Given the description of an element on the screen output the (x, y) to click on. 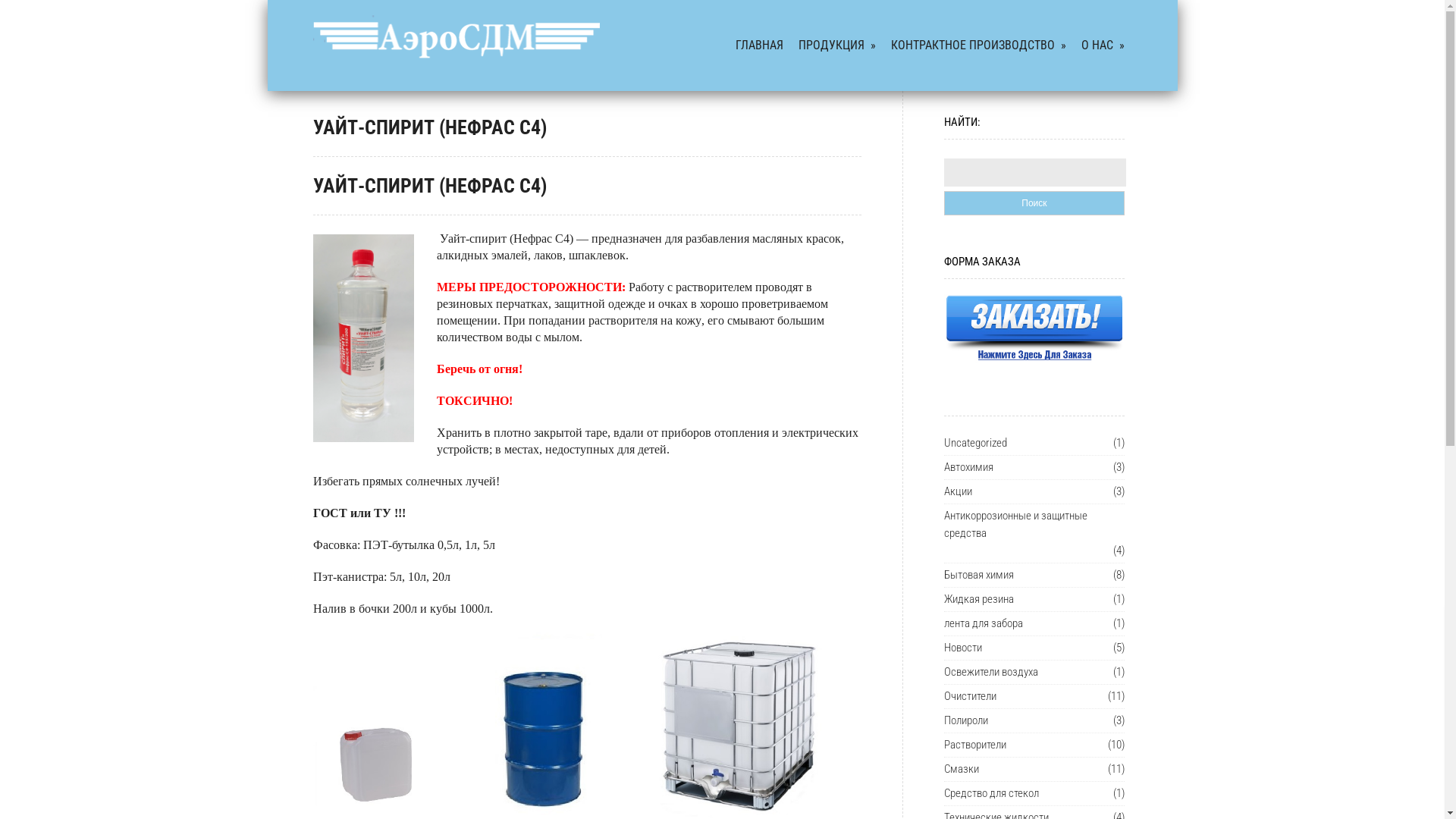
Uncategorized Element type: text (975, 442)
